Given the description of an element on the screen output the (x, y) to click on. 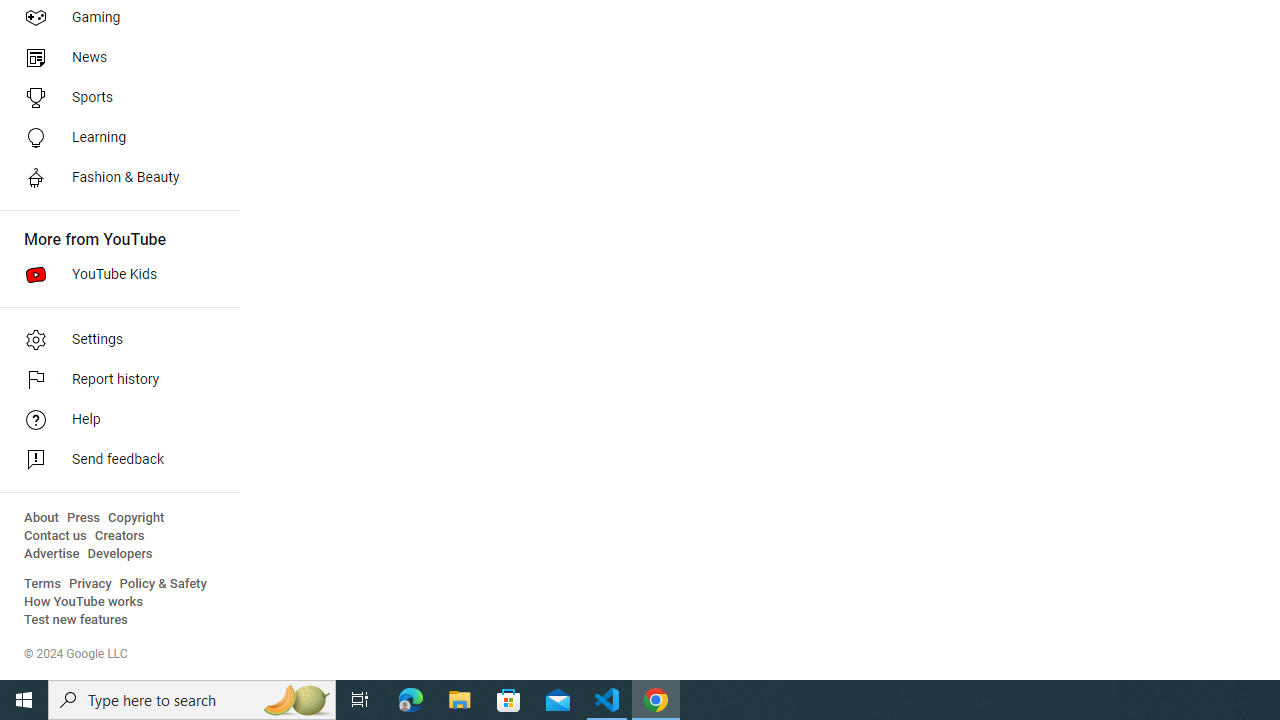
YouTube Kids (113, 274)
Terms (42, 584)
About (41, 518)
News (113, 57)
Advertise (51, 554)
Send feedback (113, 459)
